Given the description of an element on the screen output the (x, y) to click on. 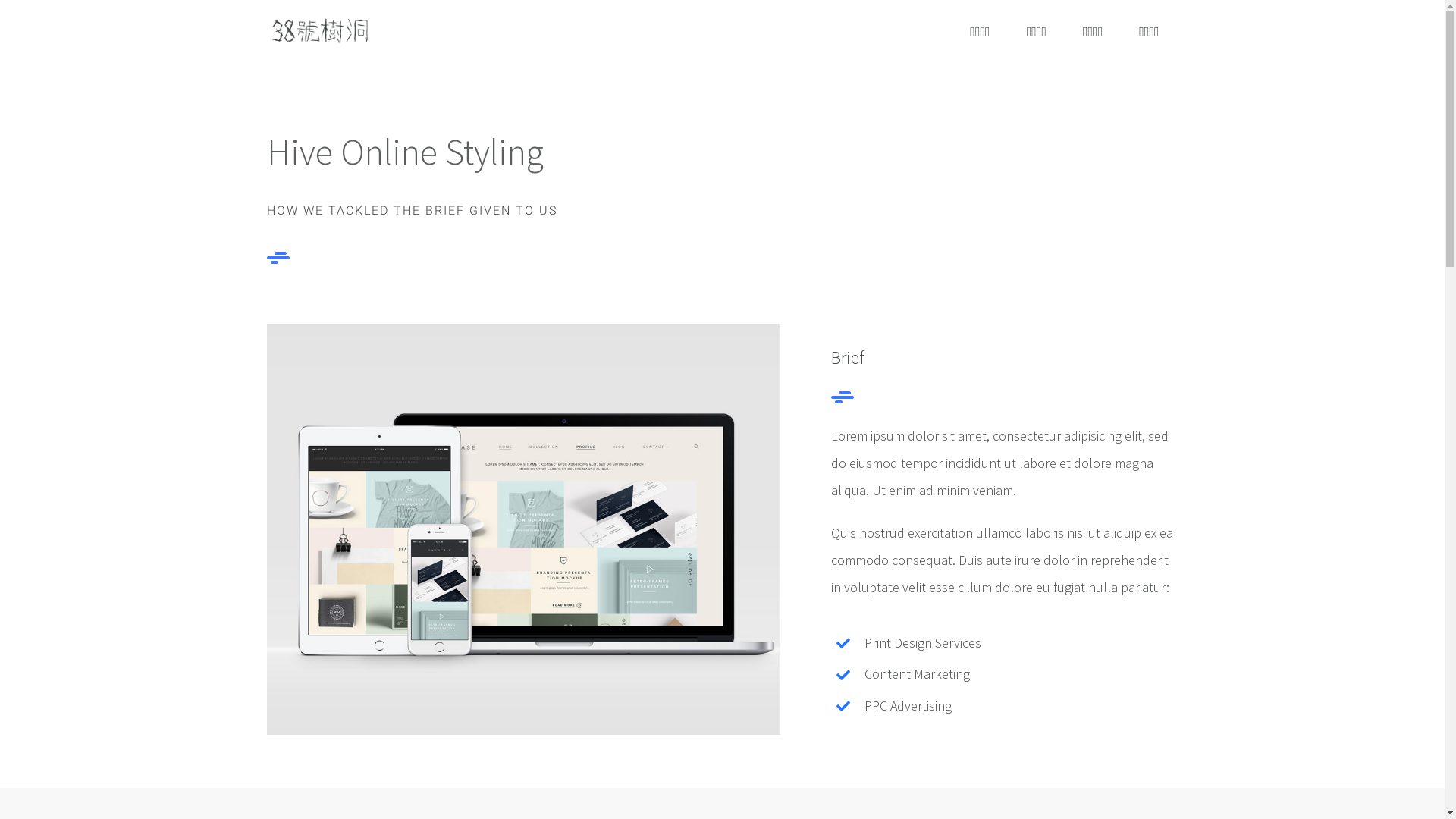
portfolio8 Element type: hover (523, 329)
divide Element type: hover (277, 257)
divide Element type: hover (842, 397)
